Given the description of an element on the screen output the (x, y) to click on. 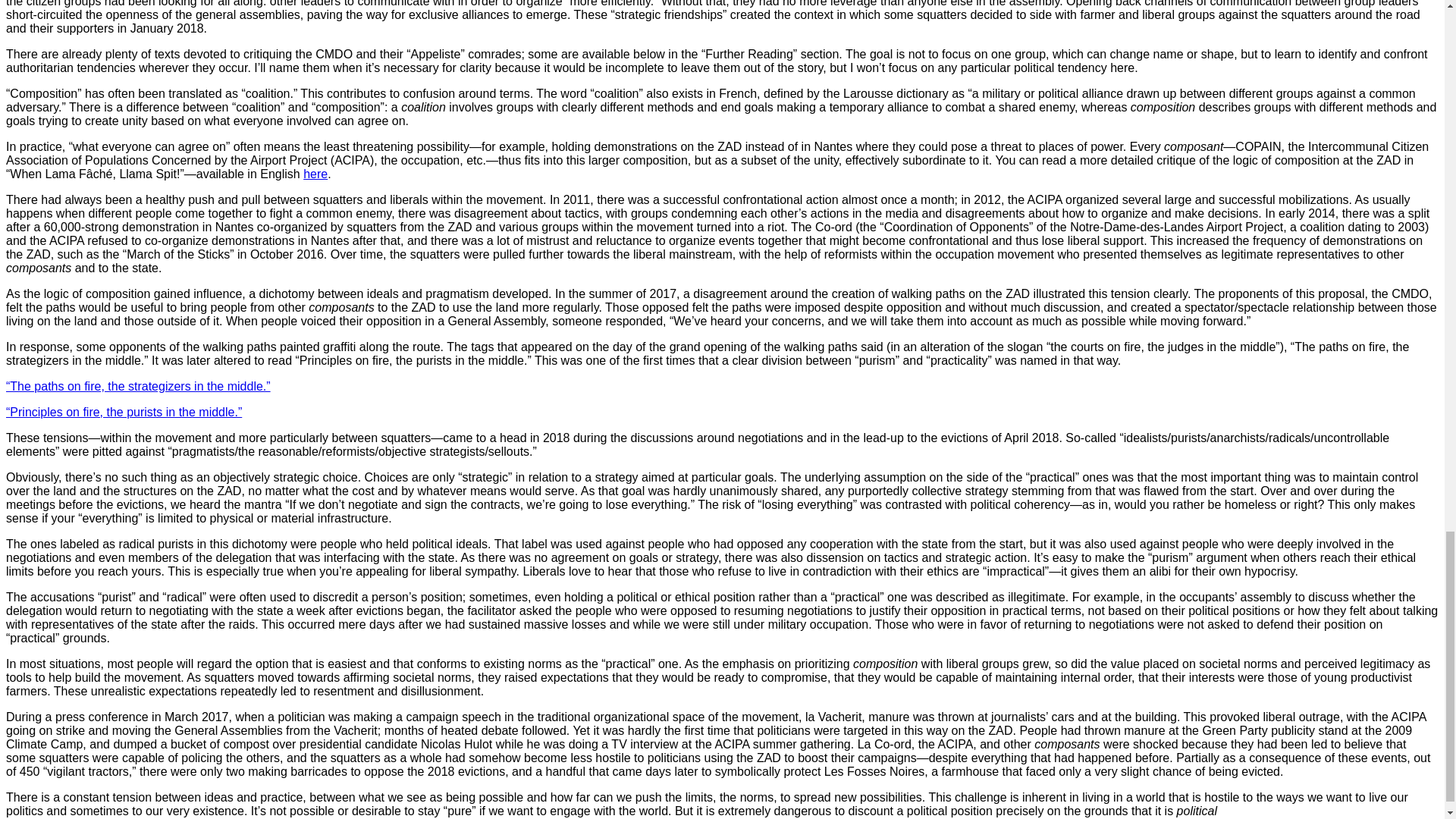
here (314, 173)
